Given the description of an element on the screen output the (x, y) to click on. 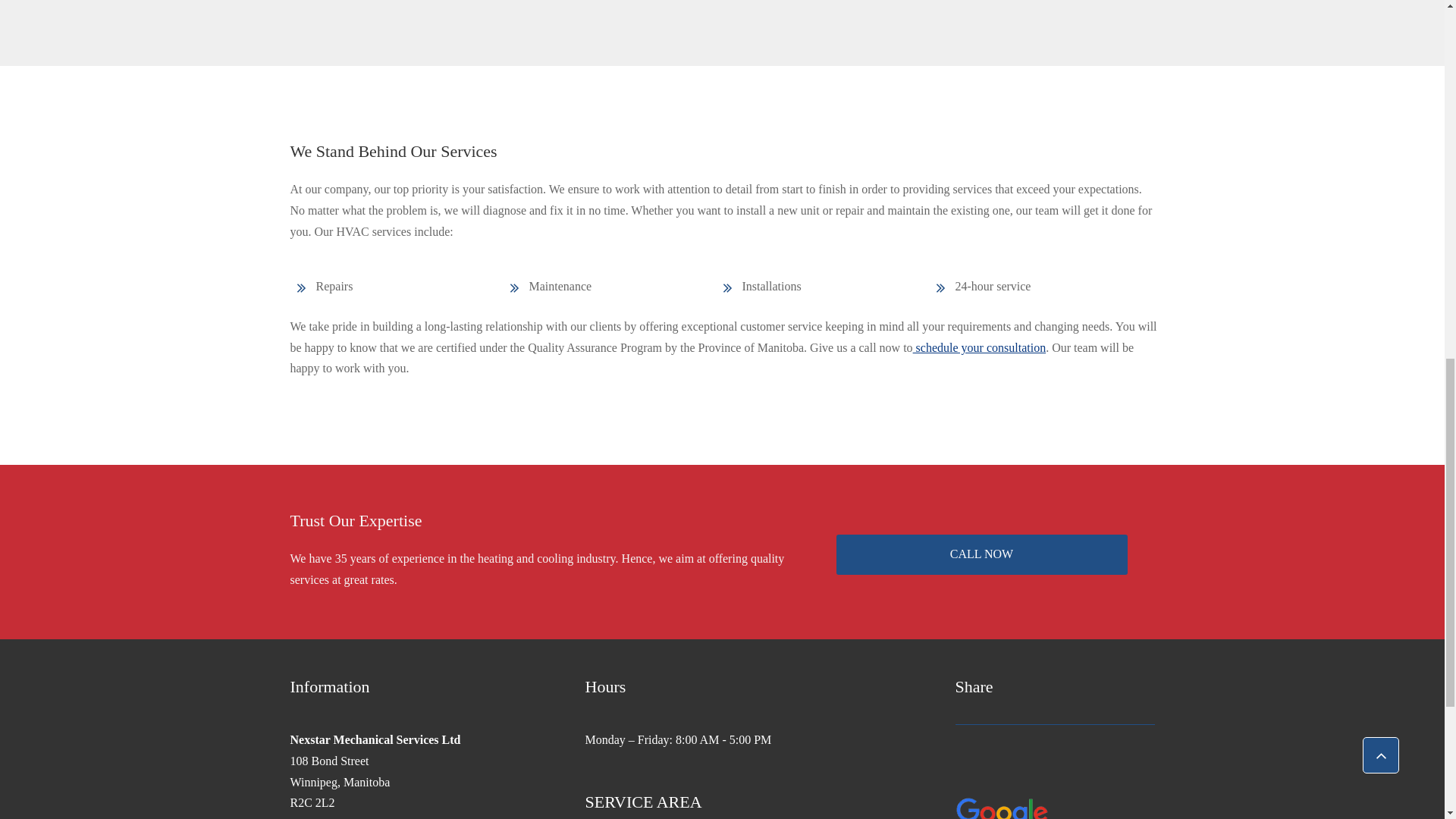
Embedded Content (989, 774)
CALL NOW (980, 554)
schedule your consultation (979, 347)
Embedded Content (986, 751)
